Given the description of an element on the screen output the (x, y) to click on. 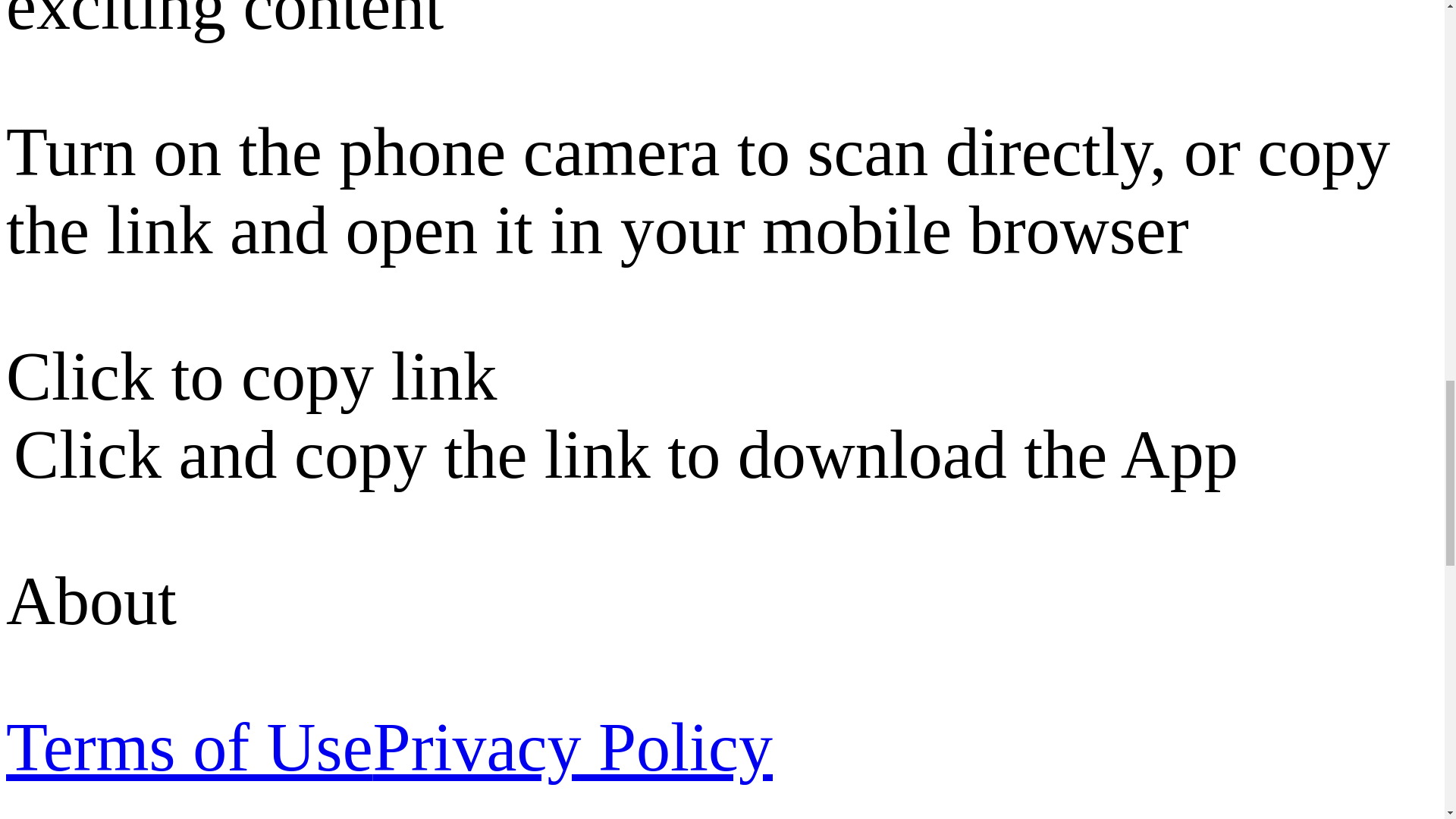
Privacy Policy (572, 747)
Terms of Use (188, 747)
